Given the description of an element on the screen output the (x, y) to click on. 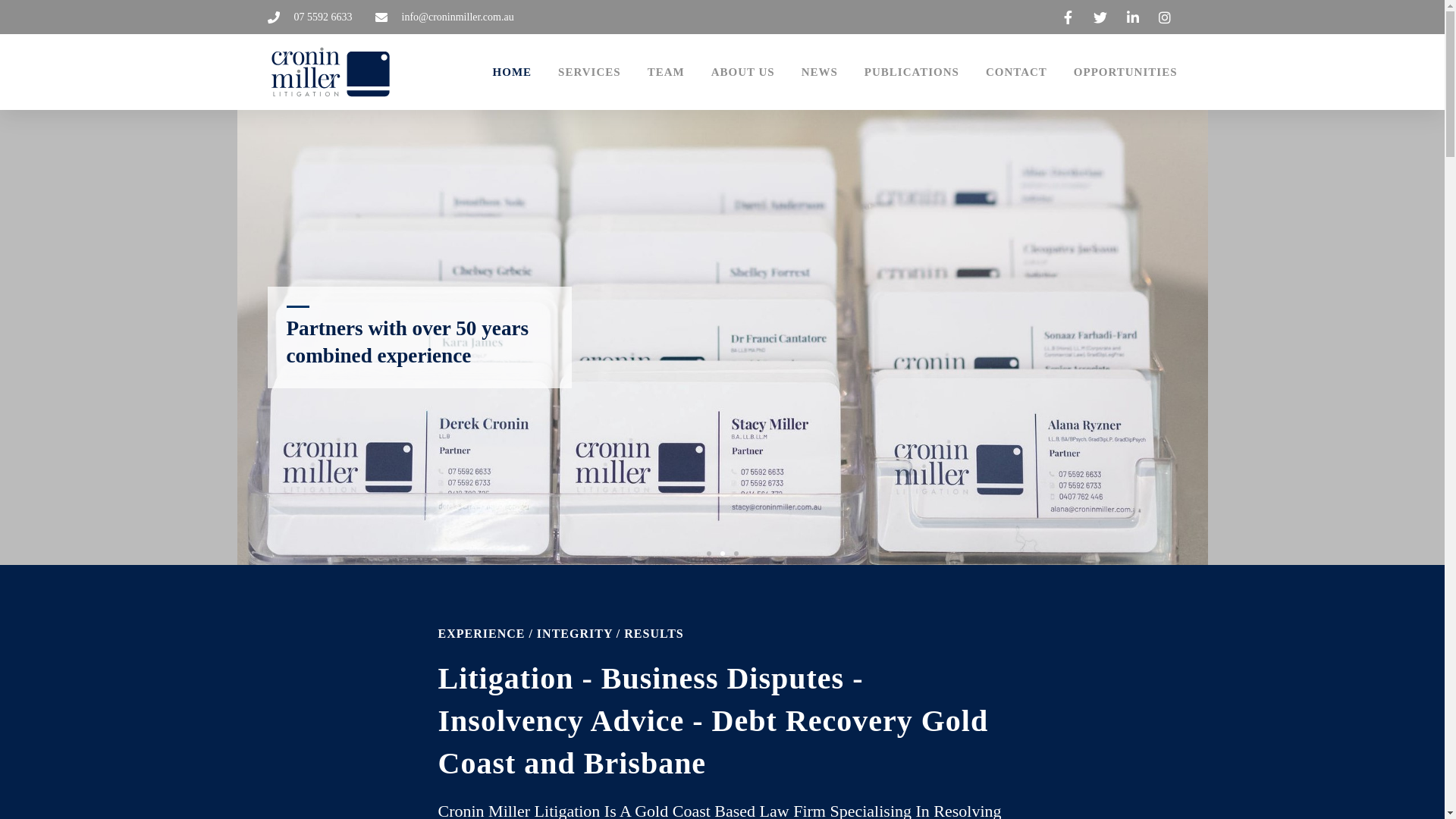
PUBLICATIONS Element type: text (911, 72)
ABOUT US Element type: text (743, 72)
HOME Element type: text (512, 72)
TEAM Element type: text (665, 72)
CONTACT Element type: text (1016, 72)
OPPORTUNITIES Element type: text (1125, 72)
07 5592 6633 Element type: text (308, 17)
NEWS Element type: text (819, 72)
SERVICES Element type: text (589, 72)
info@croninmiller.com.au Element type: text (443, 17)
